Given the description of an element on the screen output the (x, y) to click on. 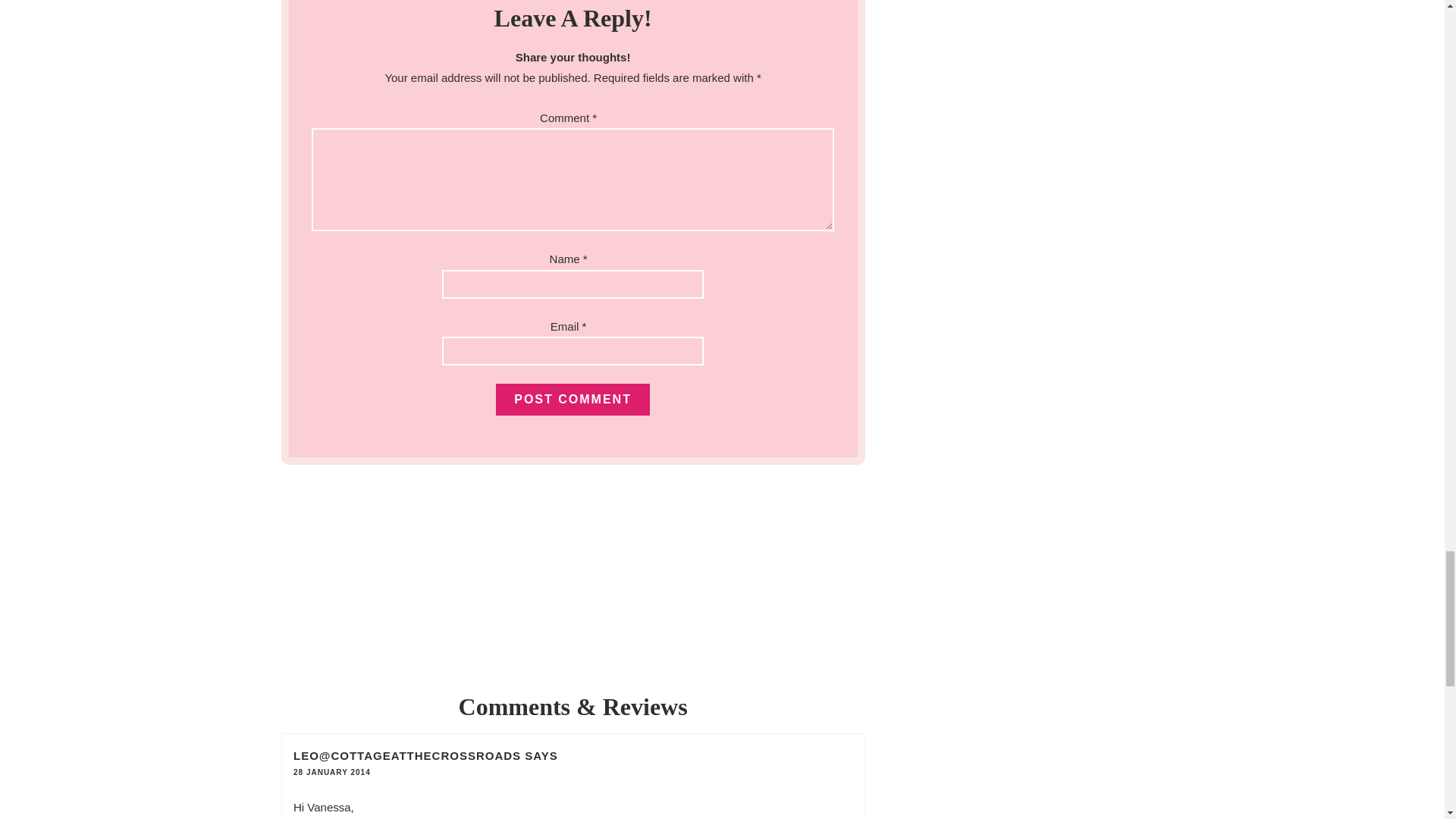
Post Comment (572, 399)
